Given the description of an element on the screen output the (x, y) to click on. 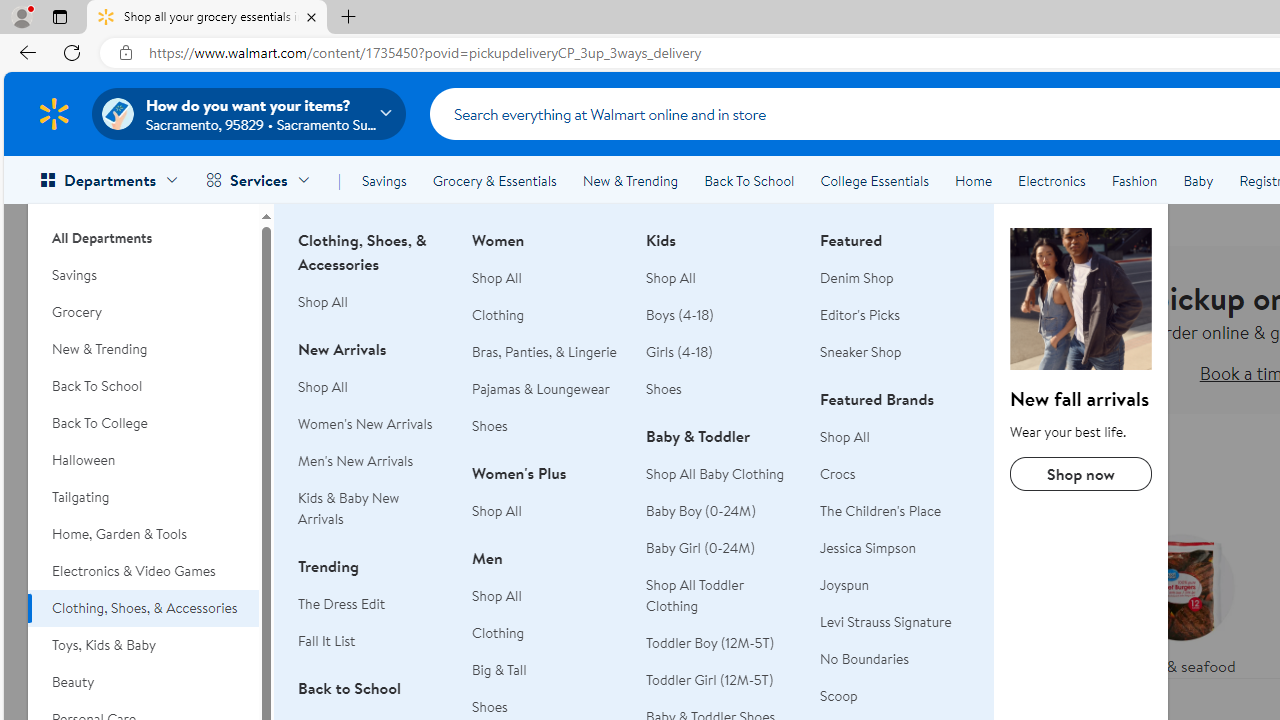
Scoop (838, 696)
Women's New Arrivals (373, 423)
Clothing (547, 632)
Baby Boy (0-24M) (721, 511)
KidsShop AllBoys (4-18)Girls (4-18)Shoes (721, 326)
Men's New Arrivals (355, 460)
Electronics & Video Games (143, 570)
No Boundaries (895, 659)
Back To School (143, 385)
Men's New Arrivals (373, 461)
